Given the description of an element on the screen output the (x, y) to click on. 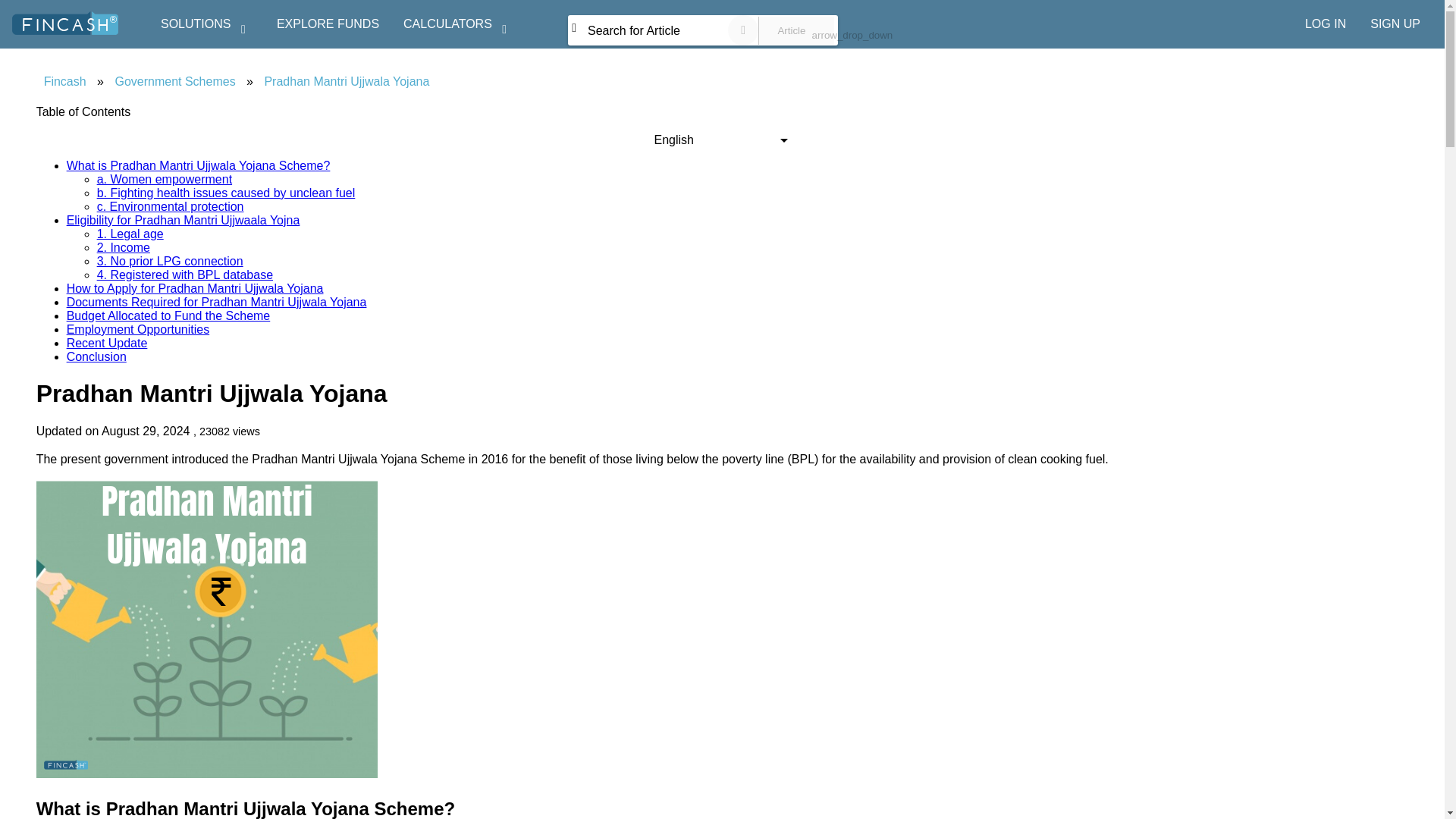
Conclusion (96, 356)
2. Income (123, 246)
3. No prior LPG connection (170, 260)
What is Pradhan Mantri Ujjwala Yojana Scheme? (198, 164)
How to Apply for Pradhan Mantri Ujjwala Yojana (194, 287)
Fincash (65, 81)
4. Registered with BPL database (185, 274)
fincash logo (64, 23)
a. Women empowerment (164, 178)
1. Legal age (130, 233)
